Given the description of an element on the screen output the (x, y) to click on. 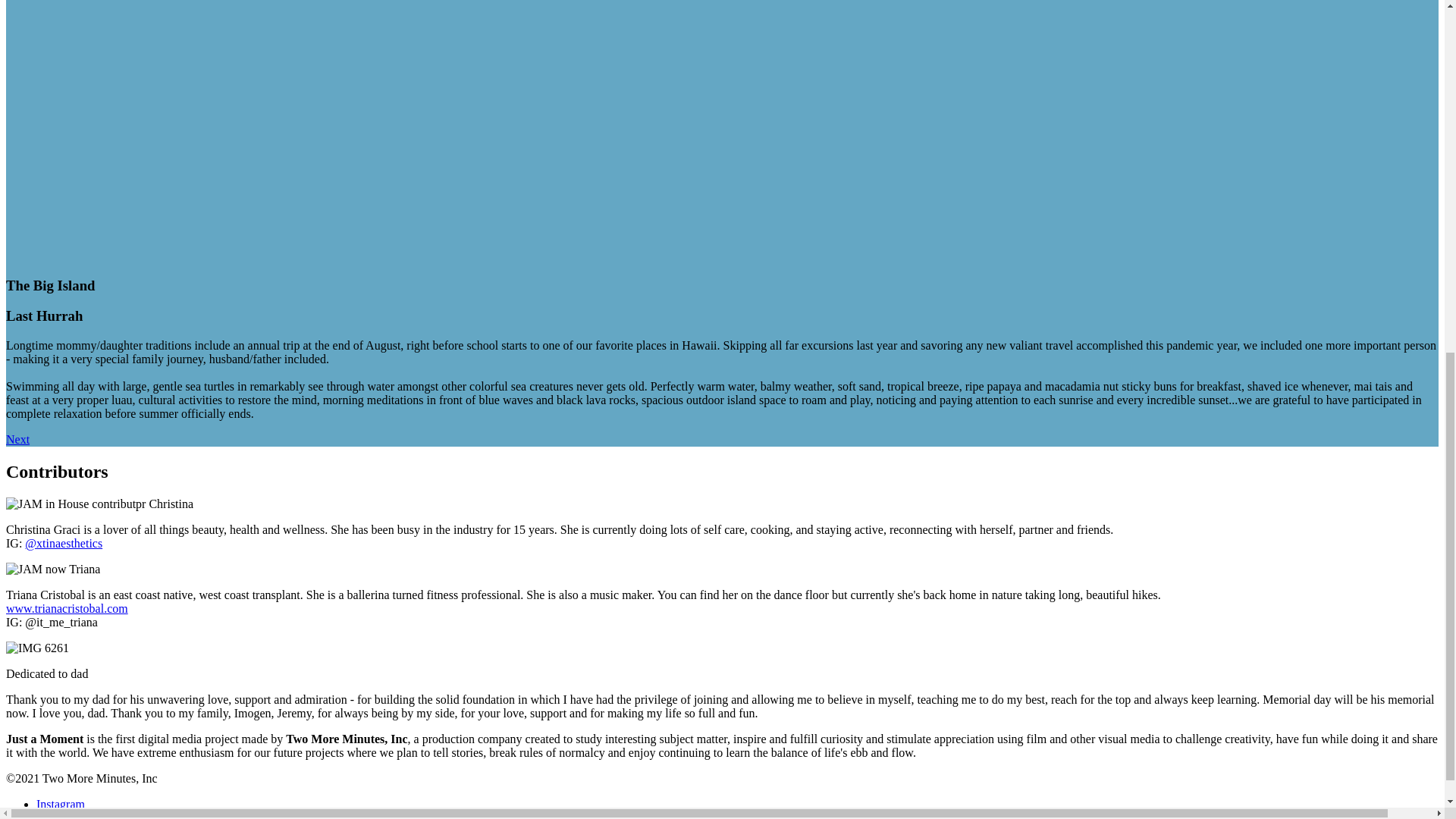
Next (17, 439)
Instagram (60, 803)
www.trianacristobal.com (66, 608)
